Given the description of an element on the screen output the (x, y) to click on. 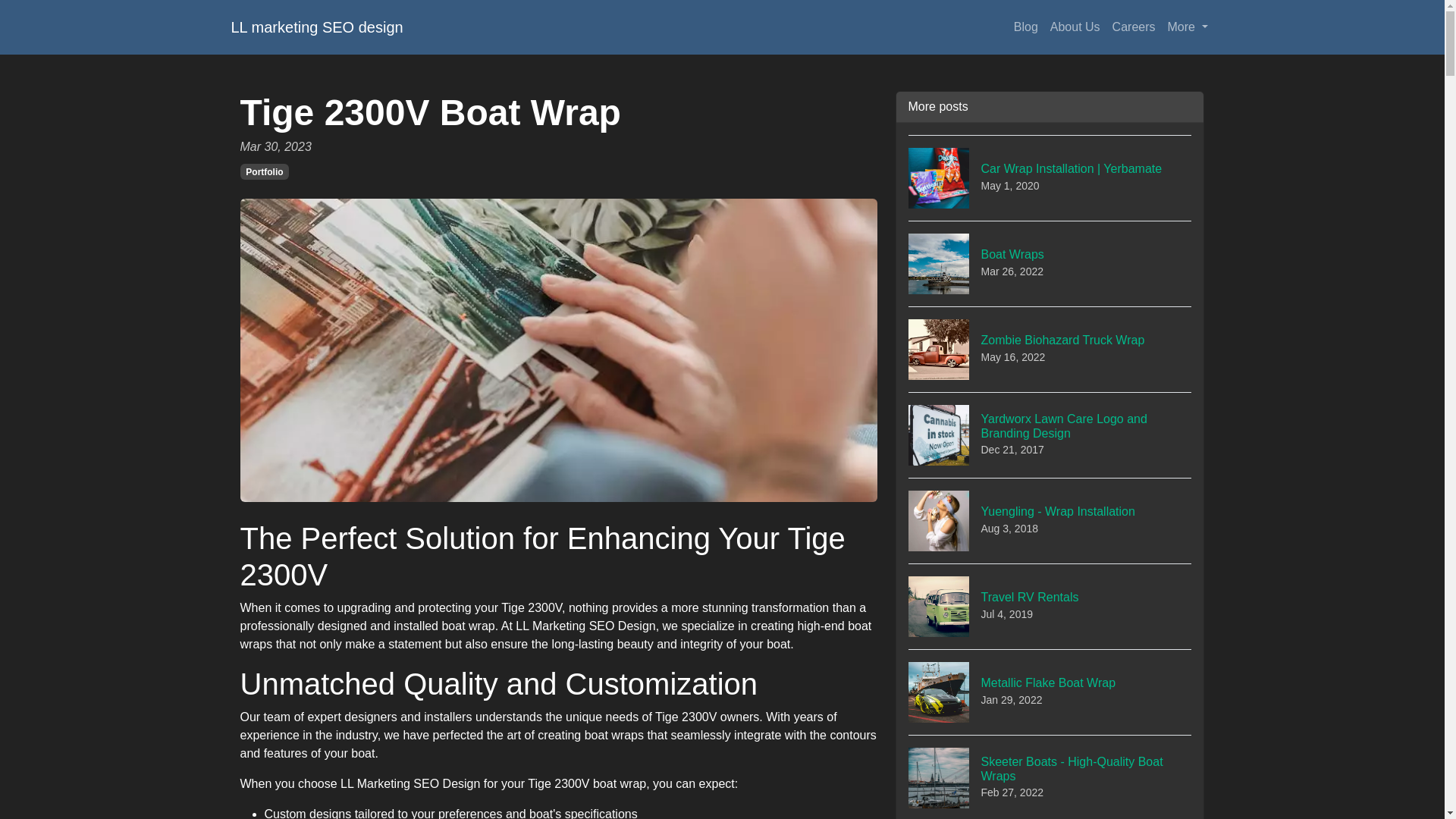
More (1187, 27)
Portfolio (264, 171)
About Us (1074, 27)
Careers (1050, 434)
Blog (1050, 349)
LL marketing SEO design (1133, 27)
